Given the description of an element on the screen output the (x, y) to click on. 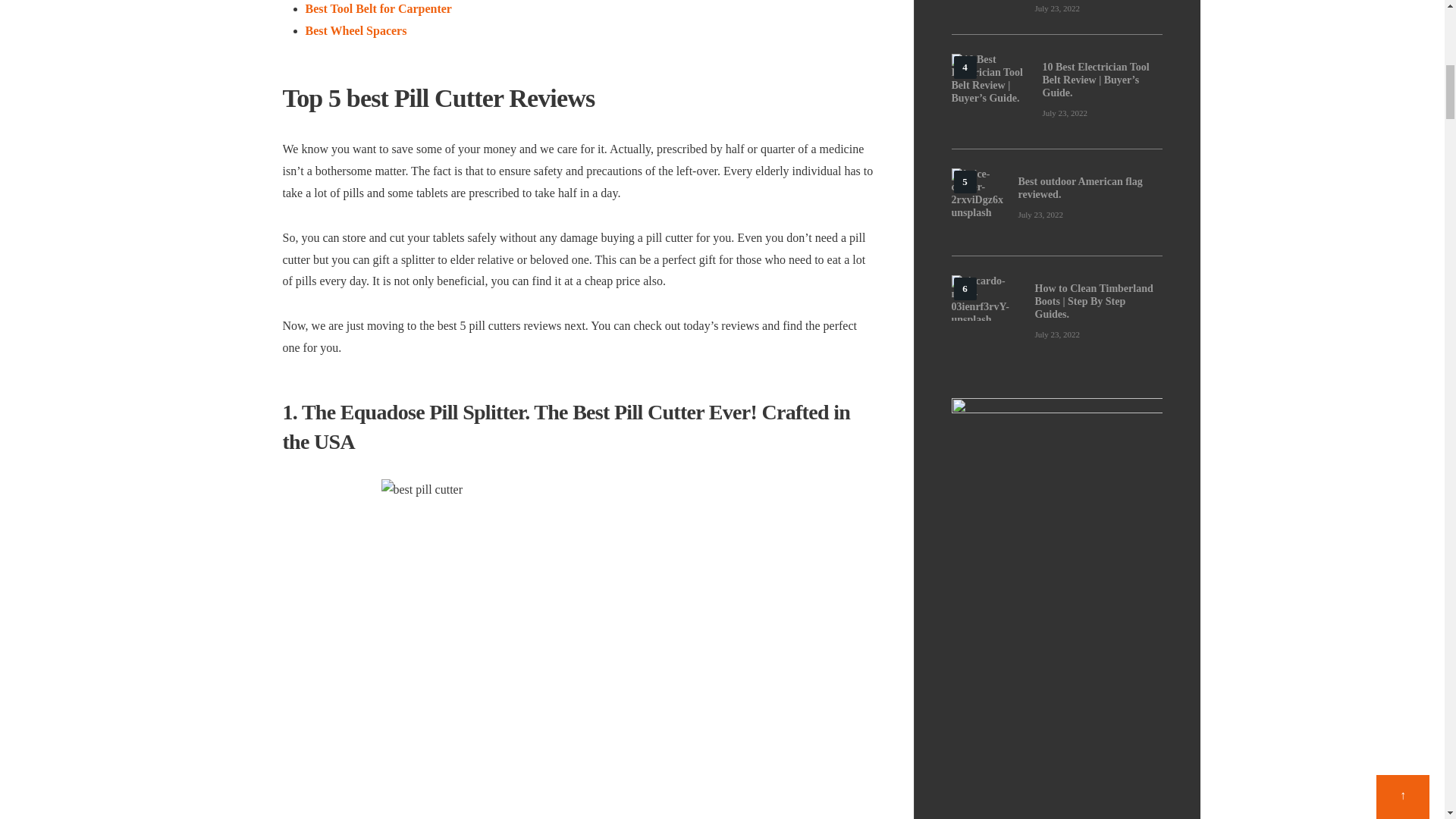
Best Tool Belt for Carpenter (377, 8)
Best Wheel Spacers (355, 30)
Best outdoor American flag reviewed. (1089, 188)
Lowa Renegade II GTX Lo Hiking and Walking Shoe (984, 7)
